Given the description of an element on the screen output the (x, y) to click on. 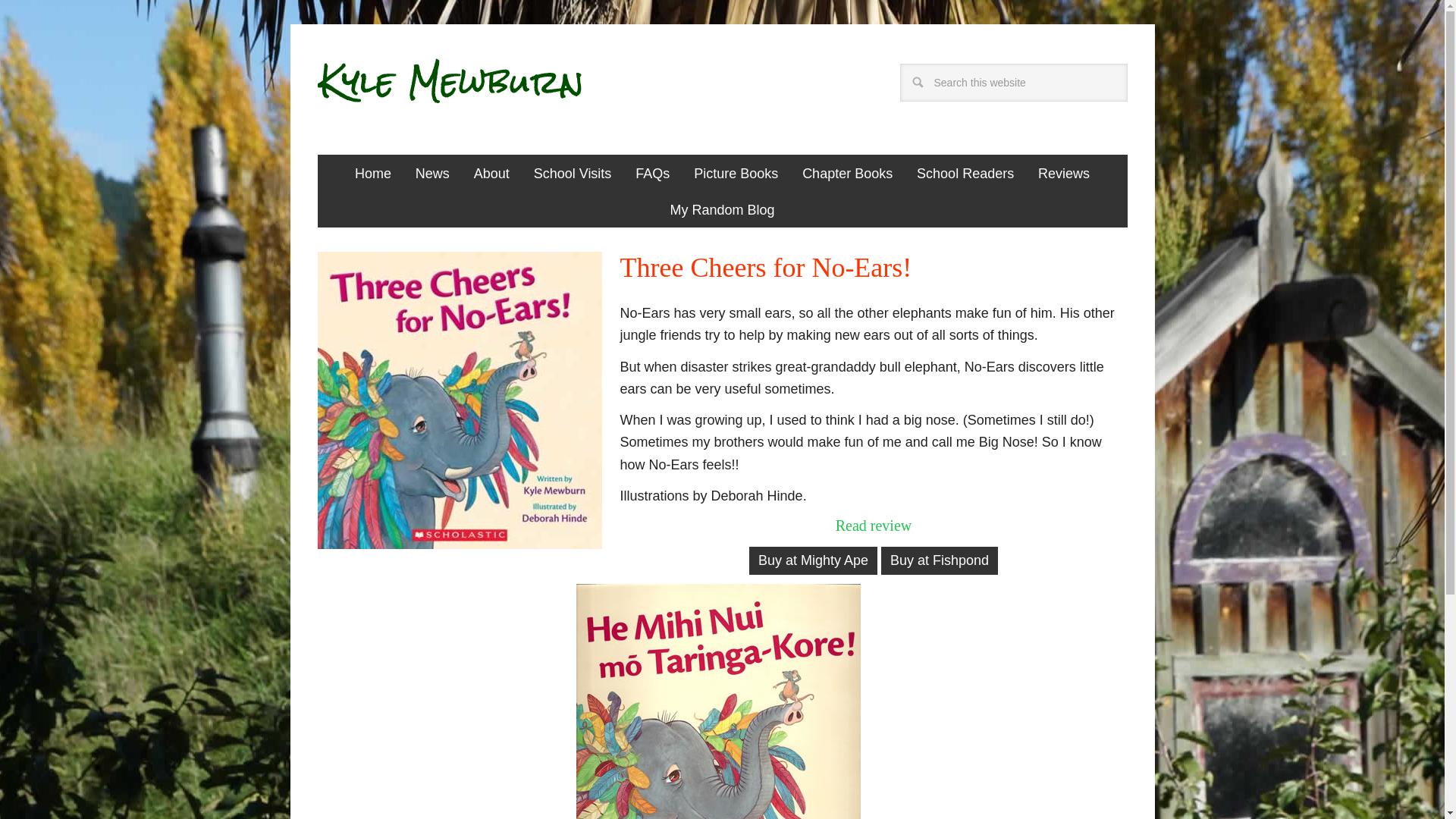
Picture Books (735, 172)
Home (372, 172)
About (491, 172)
FAQs (651, 172)
School Visits (572, 172)
Chapter Books (847, 172)
Kyle Mewburn (480, 96)
